Given the description of an element on the screen output the (x, y) to click on. 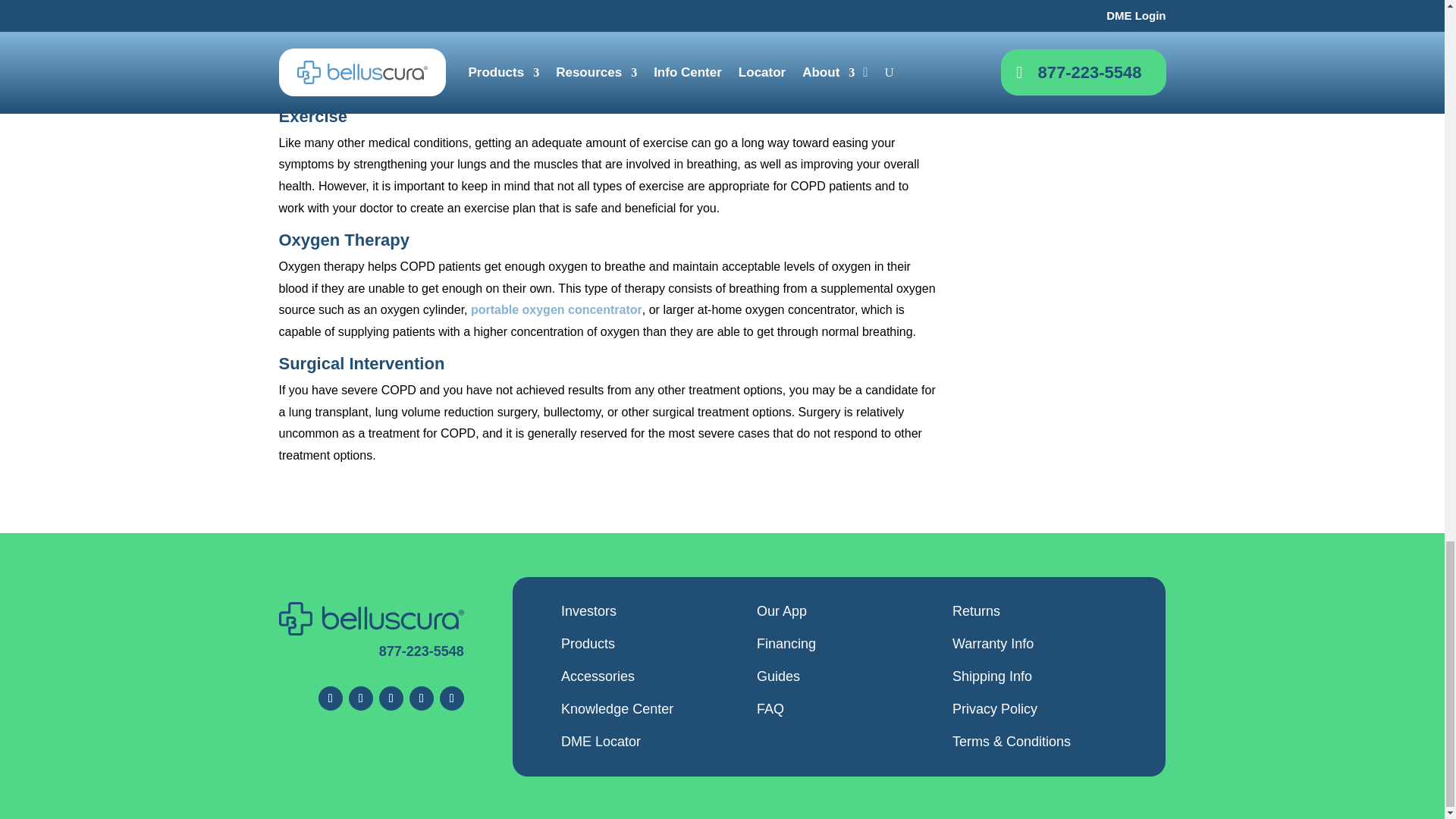
Follow on LinkedIn (451, 698)
site-logo-blue (371, 618)
Follow on Youtube (421, 698)
Follow on Facebook (330, 698)
Follow on X (360, 698)
Follow on Instagram (390, 698)
